Given the description of an element on the screen output the (x, y) to click on. 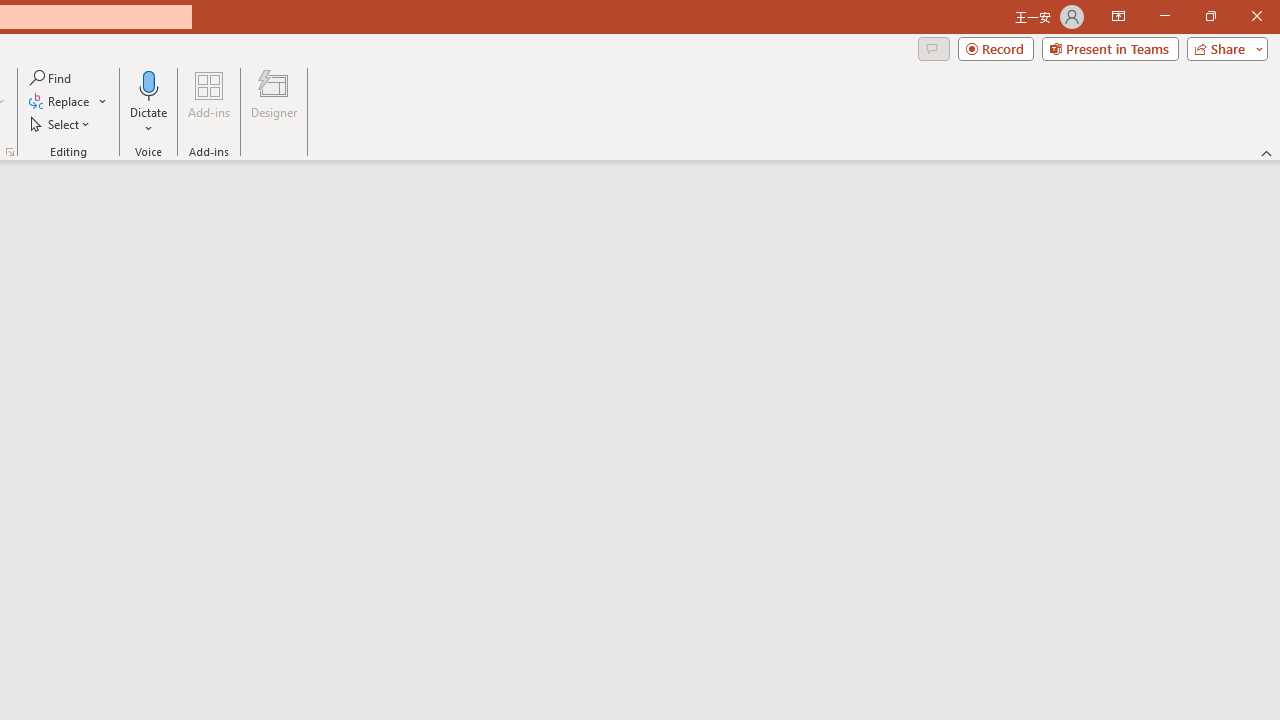
Designer (274, 102)
Comments (933, 48)
Format Object... (9, 151)
Select (61, 124)
Dictate (149, 84)
Present in Teams (1109, 48)
Ribbon Display Options (1118, 16)
Dictate (149, 102)
Replace... (68, 101)
Minimize (1164, 16)
Restore Down (1210, 16)
Find... (51, 78)
